Given the description of an element on the screen output the (x, y) to click on. 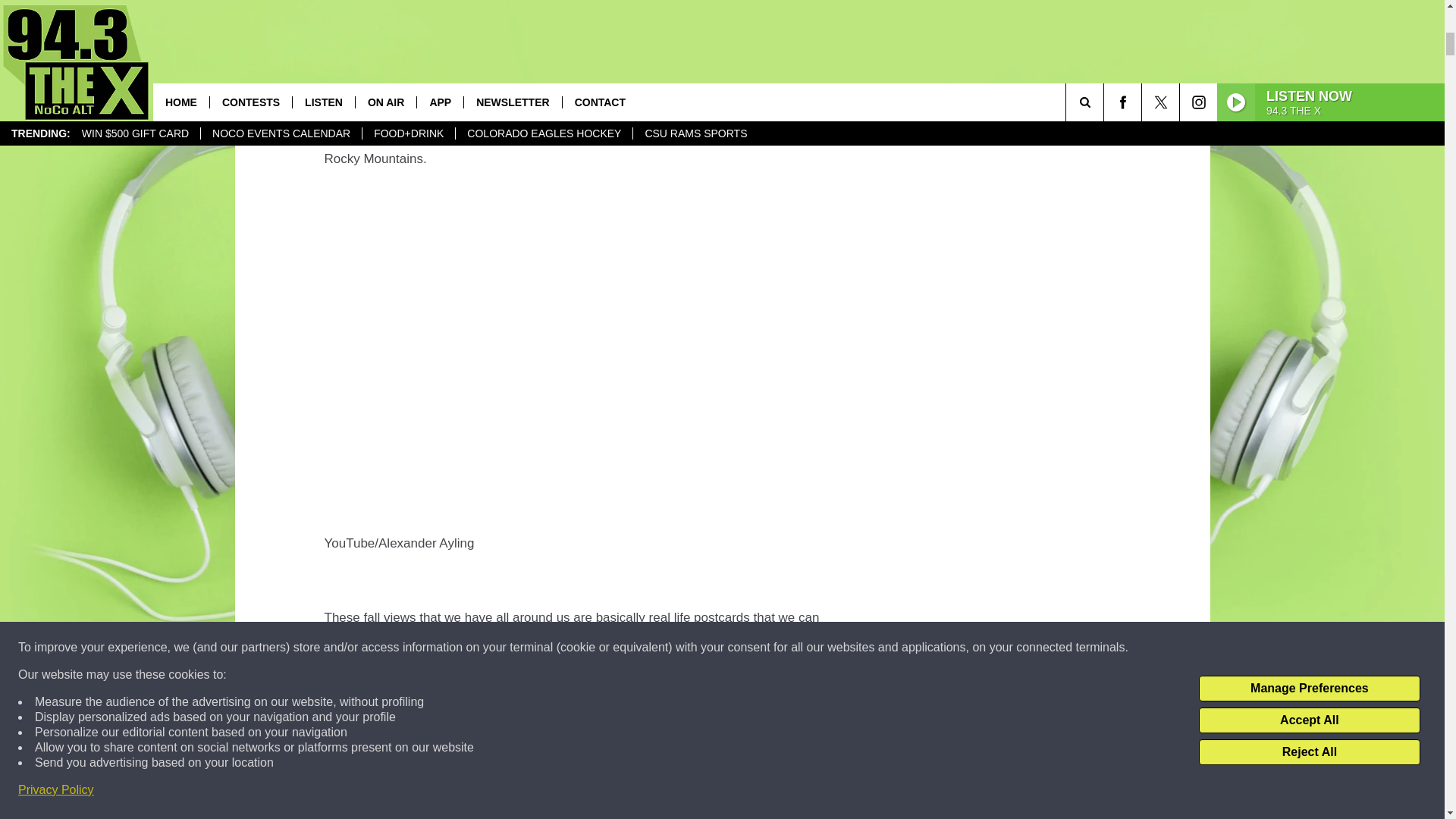
Email Address (600, 13)
